Given the description of an element on the screen output the (x, y) to click on. 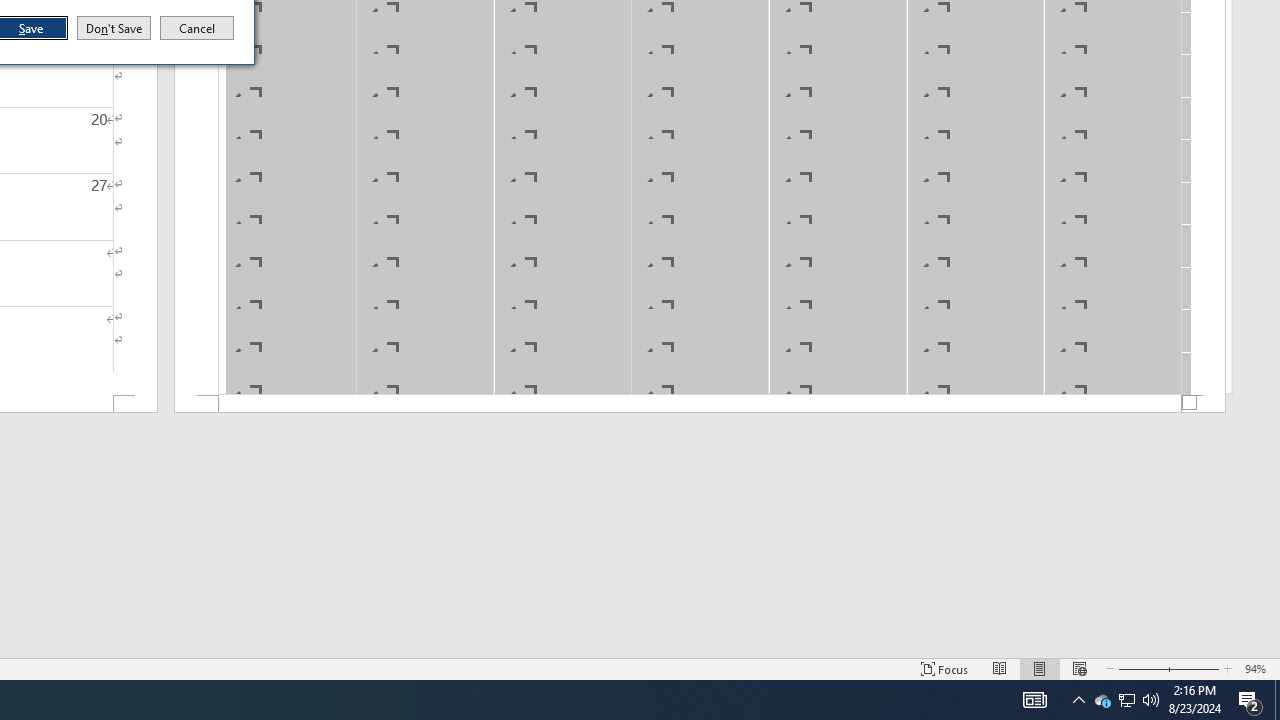
Action Center, 2 new notifications (1250, 699)
Read Mode (1000, 668)
Notification Chevron (1078, 699)
User Promoted Notification Area (1126, 699)
Don't Save (1102, 699)
Footer -Section 1- (113, 27)
Q2790: 100% (700, 404)
Print Layout (1151, 699)
Cancel (1039, 668)
